Given the description of an element on the screen output the (x, y) to click on. 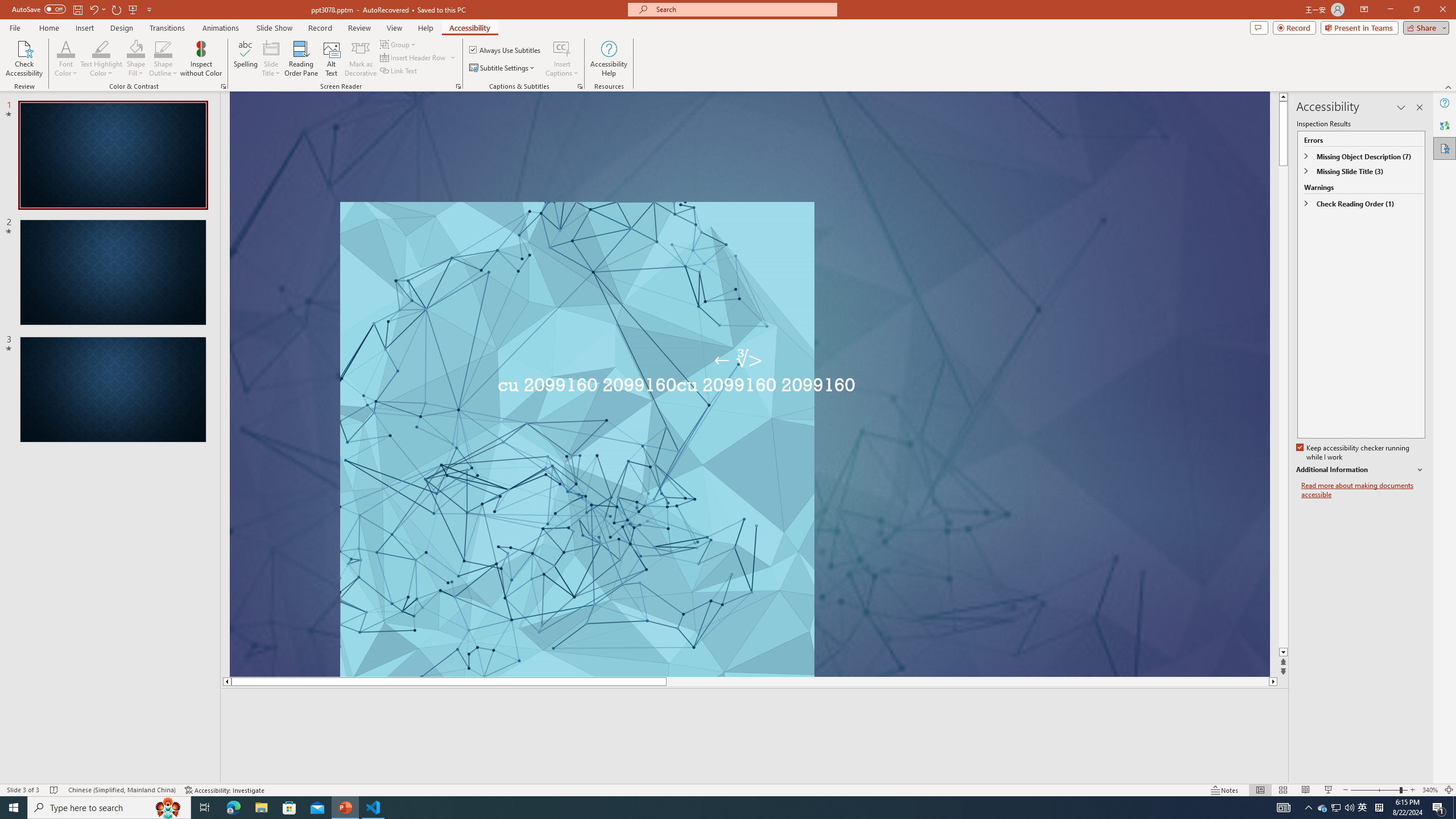
Accessibility Help (608, 58)
